Given the description of an element on the screen output the (x, y) to click on. 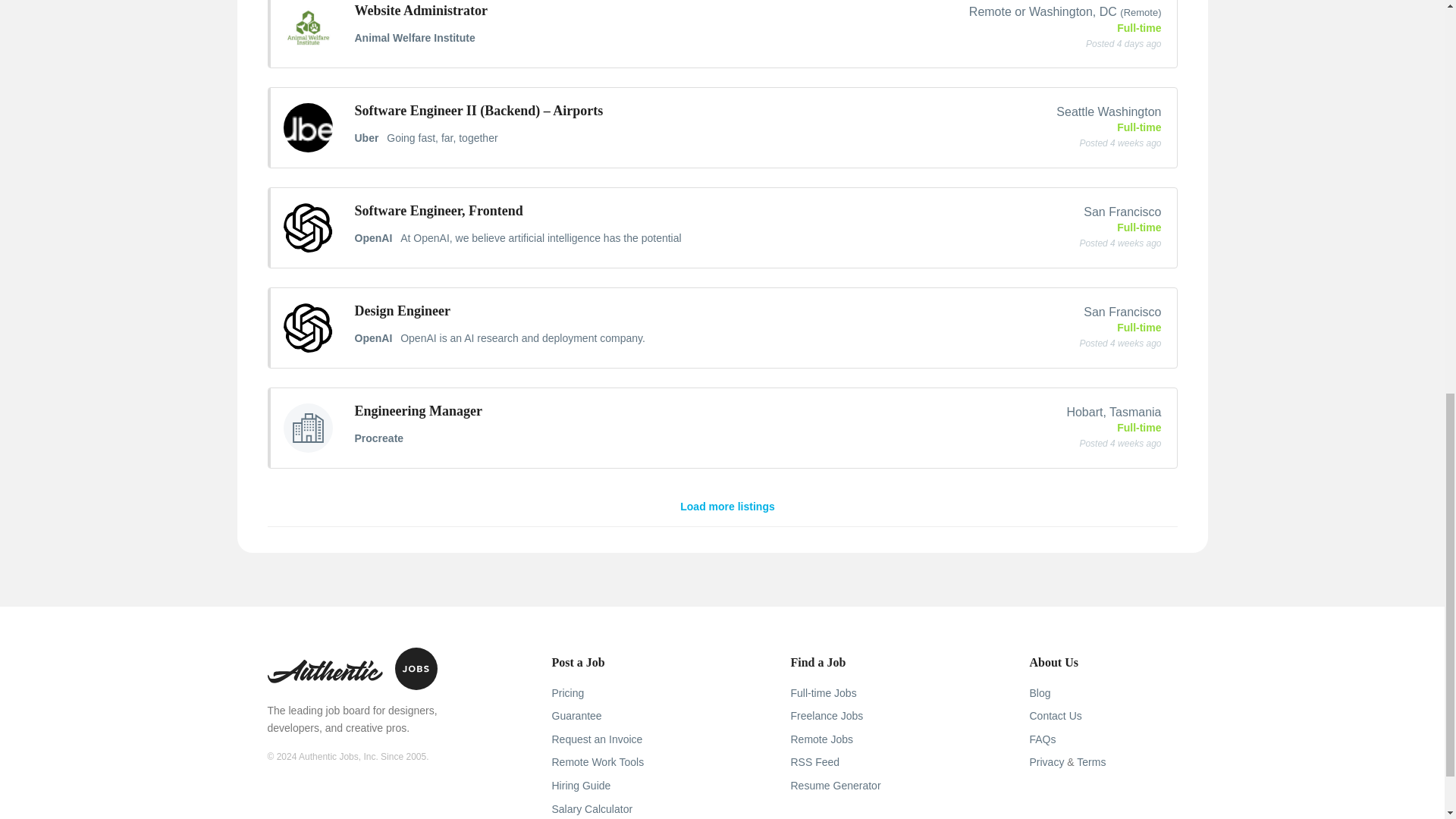
About Us (1053, 662)
Resume Generator (835, 785)
Guarantee (576, 715)
Remote Work Tools (598, 761)
Pricing (568, 693)
Post a Job (578, 662)
Full-time Jobs (823, 693)
